Given the description of an element on the screen output the (x, y) to click on. 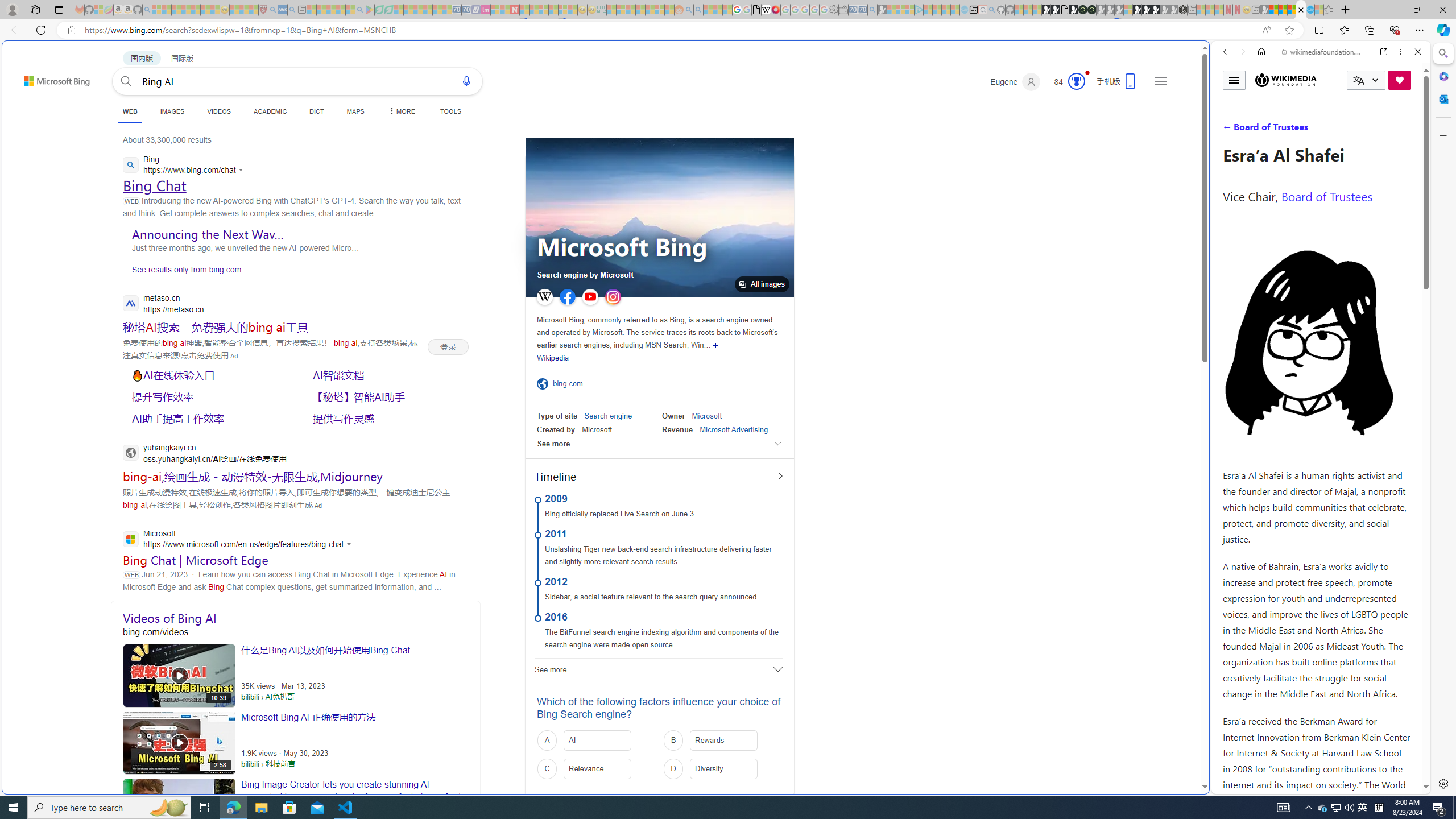
Actions for this site (1370, 583)
Search Filter, IMAGES (1262, 129)
B Rewards (722, 740)
MediaWiki (774, 9)
All images (659, 216)
New Report Confirms 2023 Was Record Hot | Watch - Sleeping (195, 9)
SERP,5520 (388, 395)
Owner (673, 415)
Jobs - lastminute.com Investor Portal - Sleeping (485, 9)
